Given the description of an element on the screen output the (x, y) to click on. 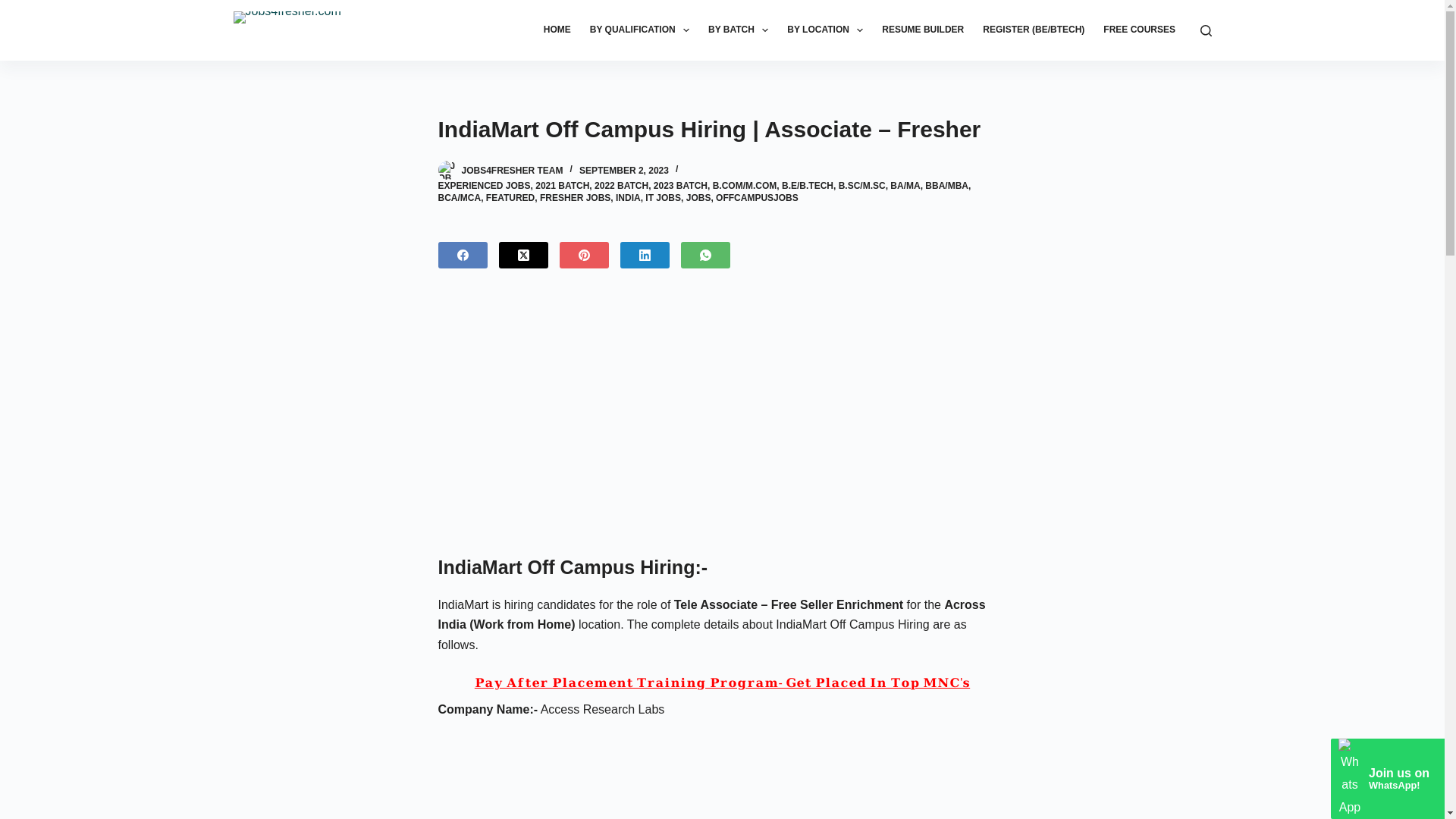
BY QUALIFICATION (638, 30)
Posts by Jobs4fresher Team (511, 170)
Skip to content (15, 7)
Advertisement (722, 778)
Advertisement (721, 412)
